Given the description of an element on the screen output the (x, y) to click on. 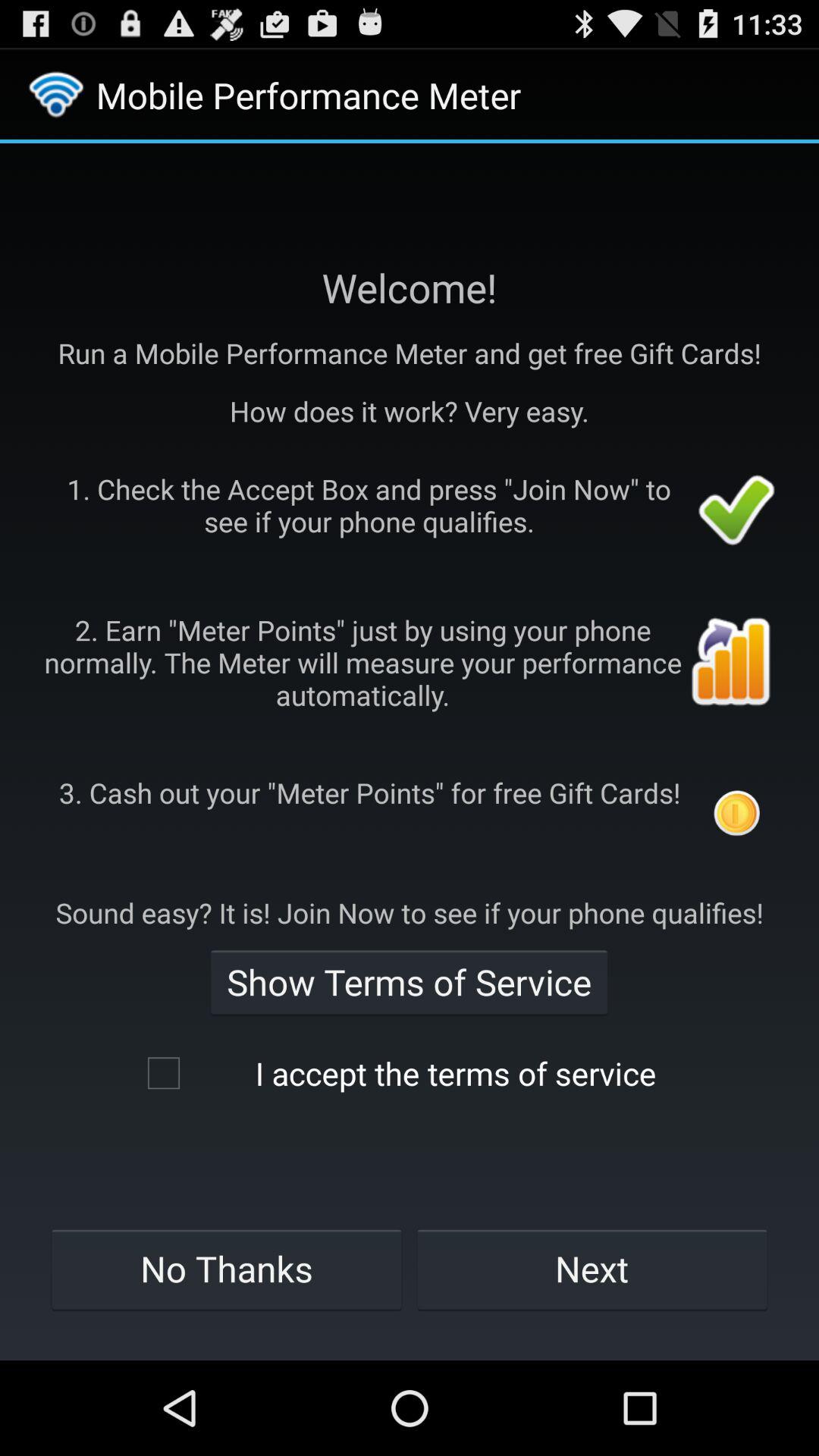
turn off icon to the right of no thanks item (592, 1268)
